Given the description of an element on the screen output the (x, y) to click on. 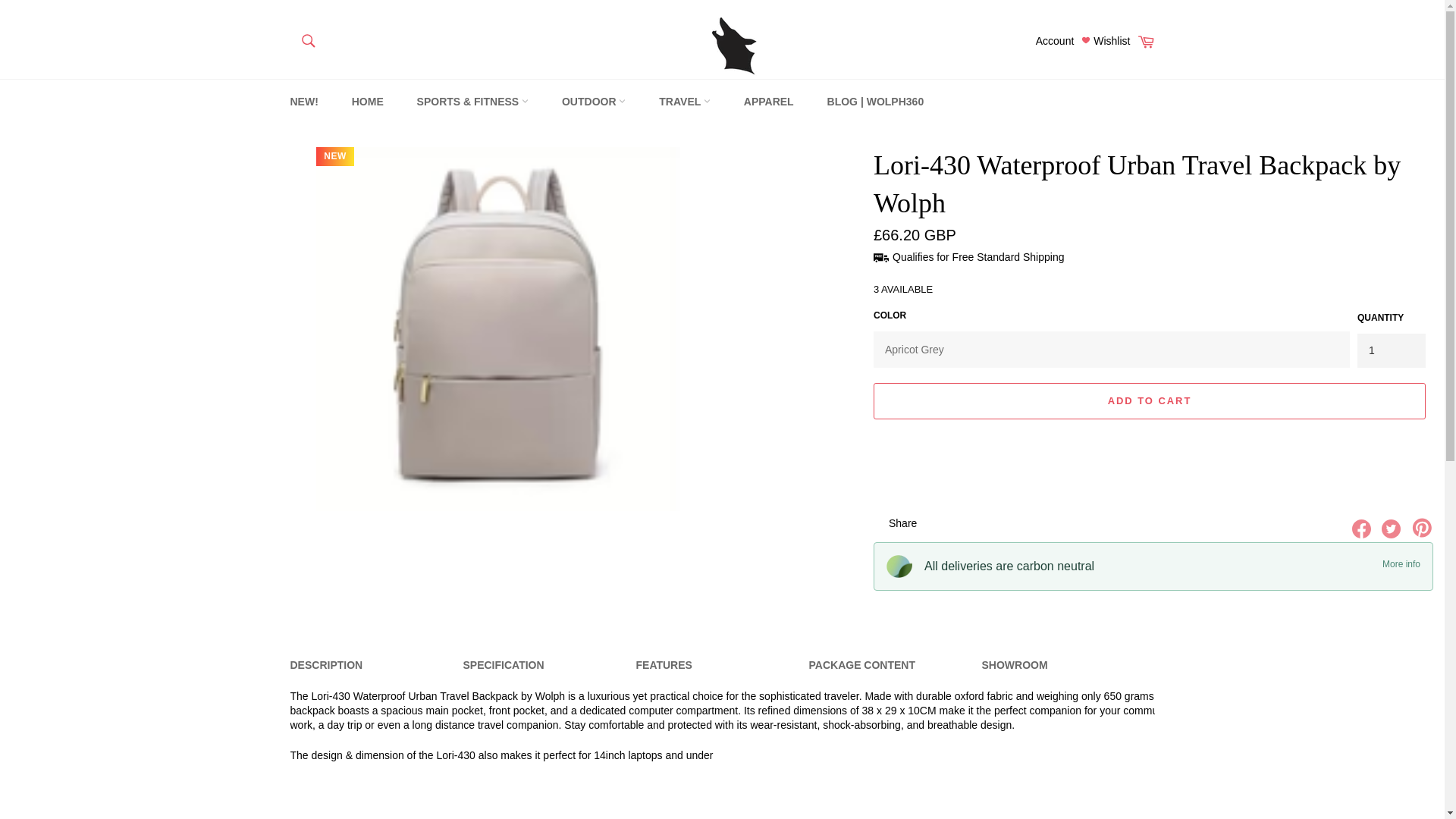
Wishlist (1105, 40)
1 (1390, 350)
Share on Facebook (1363, 534)
Account (1054, 40)
NEW! (304, 101)
Search (306, 40)
Pin on Pinterest (1421, 534)
YouTube video player (501, 798)
HOME (367, 101)
Tweet on Twitter (1392, 534)
